Given the description of an element on the screen output the (x, y) to click on. 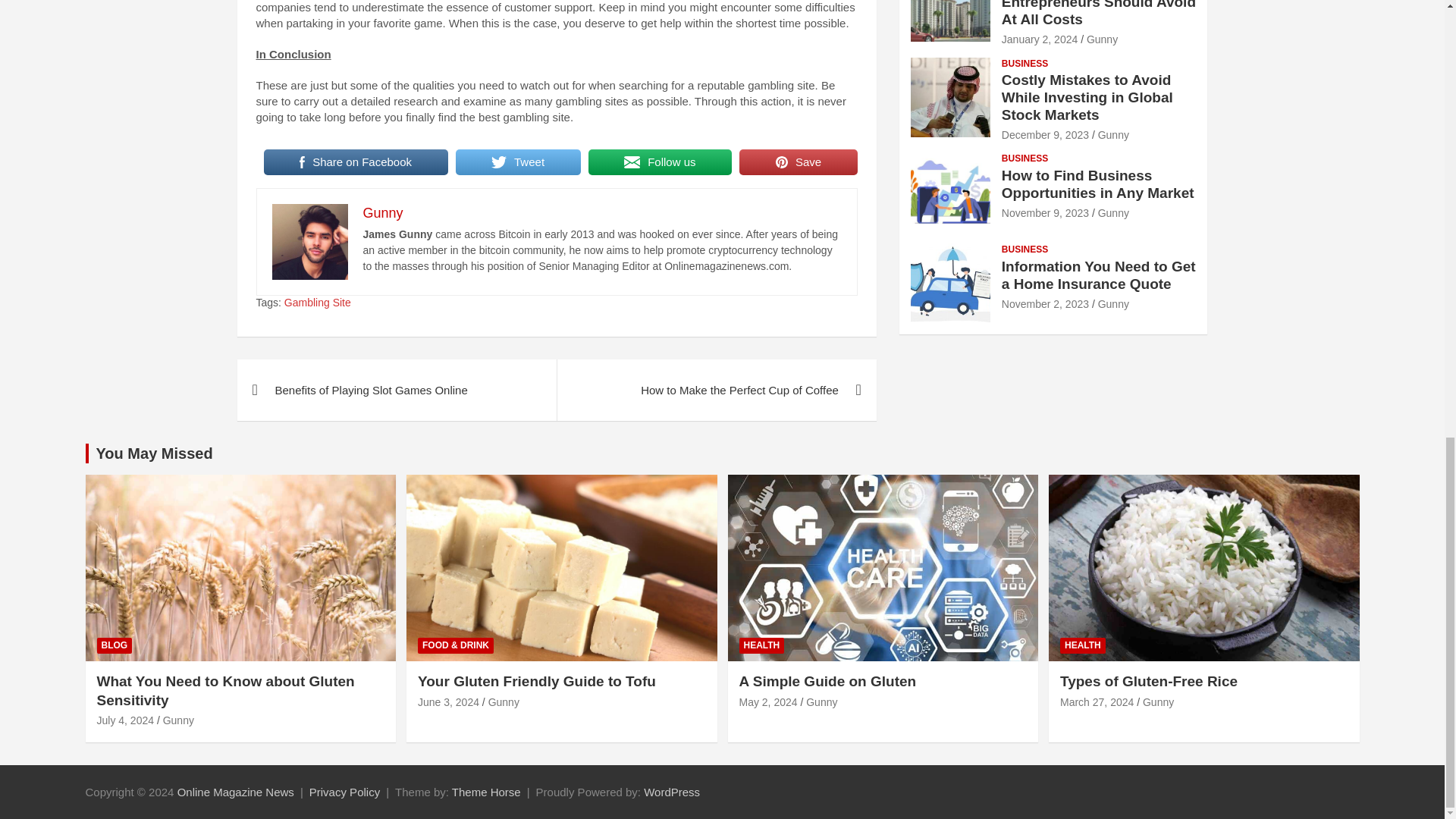
Gambling Site (316, 303)
Benefits of Playing Slot Games Online (395, 389)
How to Make the Perfect Cup of Coffee (716, 389)
Information You Need to Get a Home Insurance Quote (1045, 304)
Types of Gluten-Free Rice (1096, 702)
Share on Facebook (355, 162)
Online Magazine News (235, 791)
Follow us (660, 162)
A Simple Guide on Gluten (767, 702)
Gunny (382, 212)
Save (798, 162)
What You Need to Know about Gluten Sensitivity (125, 720)
How to Find Business Opportunities in Any Market (1045, 213)
Your Gluten Friendly Guide to Tofu (448, 702)
